Given the description of an element on the screen output the (x, y) to click on. 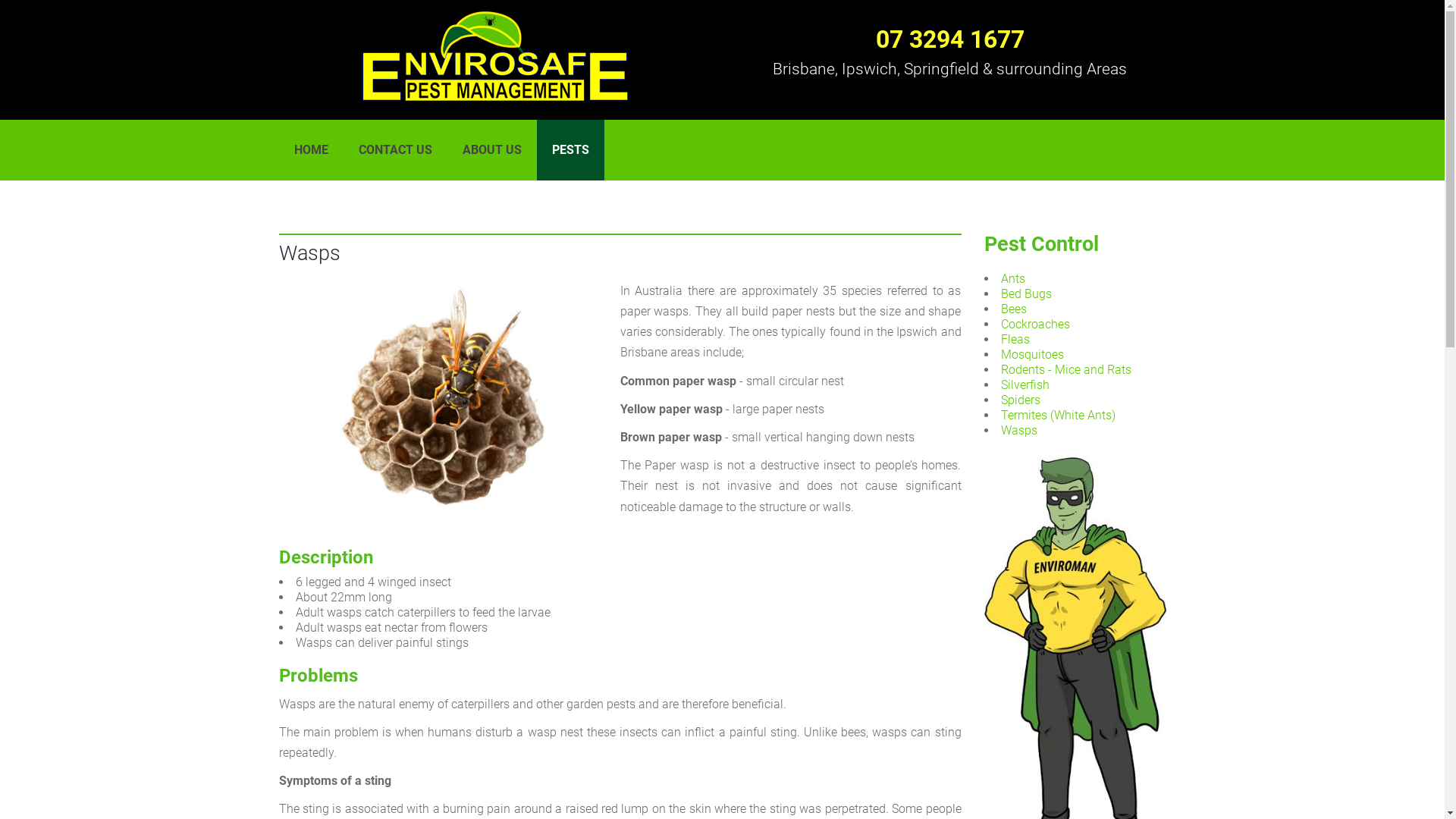
Silverfish Element type: text (1025, 384)
Ants Element type: text (1013, 278)
CONTACT US Element type: text (394, 149)
PESTS Element type: text (570, 149)
HOME Element type: text (311, 149)
Rodents - Mice and Rats Element type: text (1066, 369)
Mosquitoes Element type: text (1032, 354)
Wasps Element type: text (1019, 430)
Spiders Element type: text (1020, 399)
ABOUT US Element type: text (491, 149)
Fleas Element type: text (1015, 339)
Envirosafe Pest Management - Ipswich Element type: hover (495, 55)
Cockroaches Element type: text (1035, 323)
Bed Bugs Element type: text (1026, 293)
Bees Element type: text (1013, 308)
Termites (White Ants) Element type: text (1058, 414)
